Given the description of an element on the screen output the (x, y) to click on. 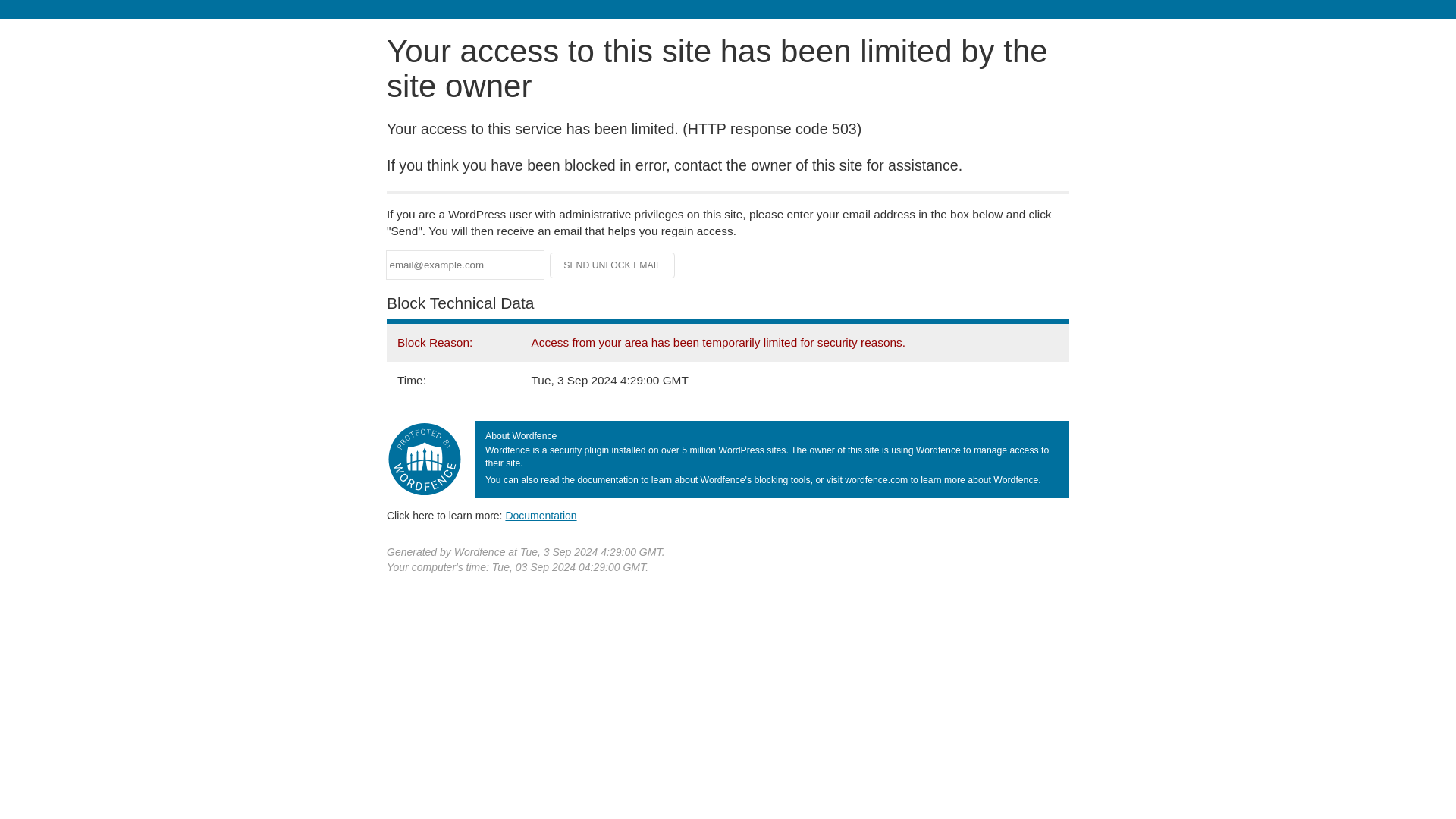
Documentation (540, 515)
Send Unlock Email (612, 265)
Send Unlock Email (612, 265)
